Given the description of an element on the screen output the (x, y) to click on. 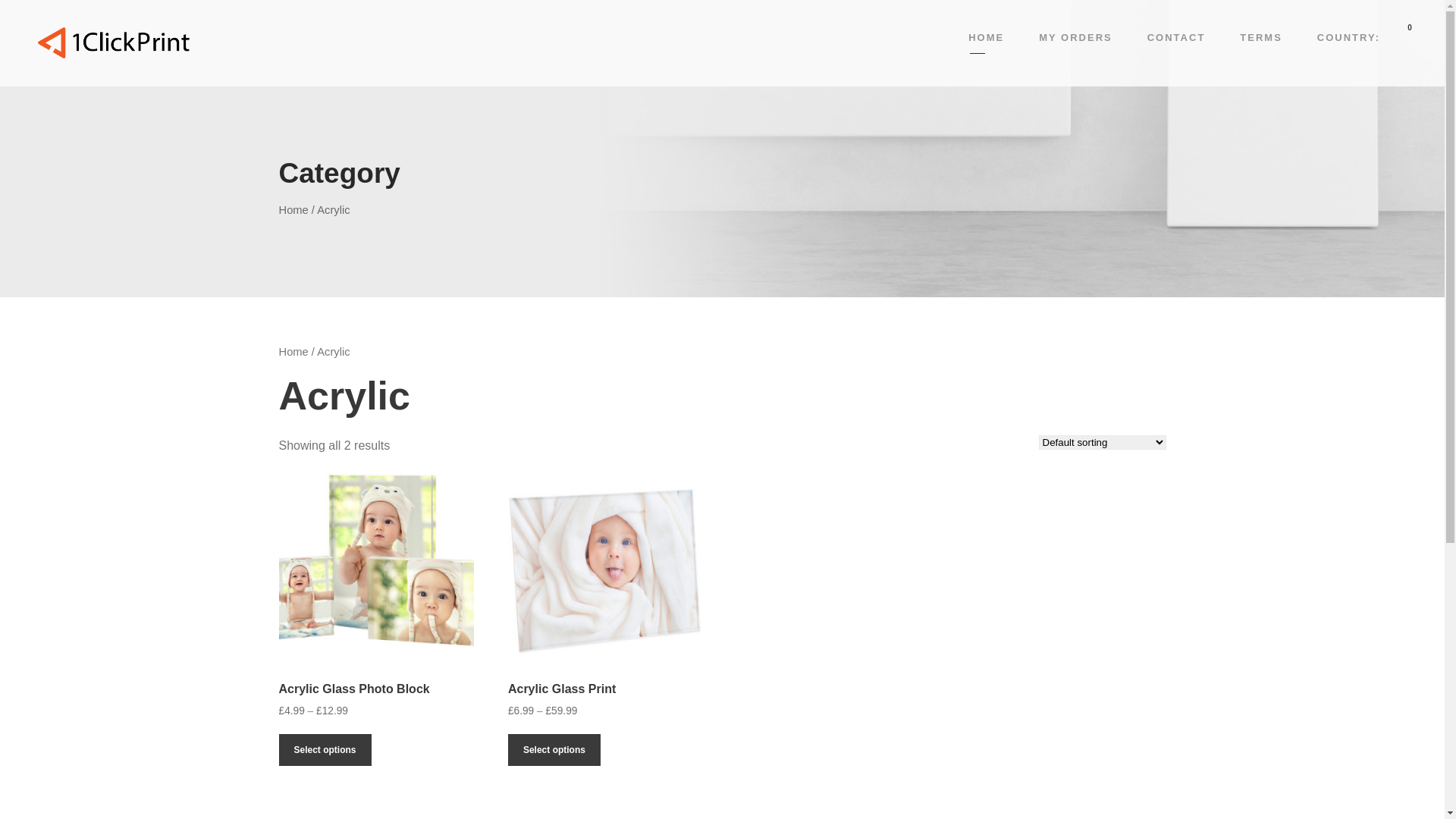
Select options Element type: text (325, 749)
TERMS Element type: text (1260, 41)
Select options Element type: text (554, 749)
Home Element type: text (293, 209)
CONTACT Element type: text (1176, 41)
MY ORDERS Element type: text (1075, 41)
Home Element type: text (293, 351)
HOME Element type: text (986, 41)
COUNTRY: Element type: text (1348, 41)
